Given the description of an element on the screen output the (x, y) to click on. 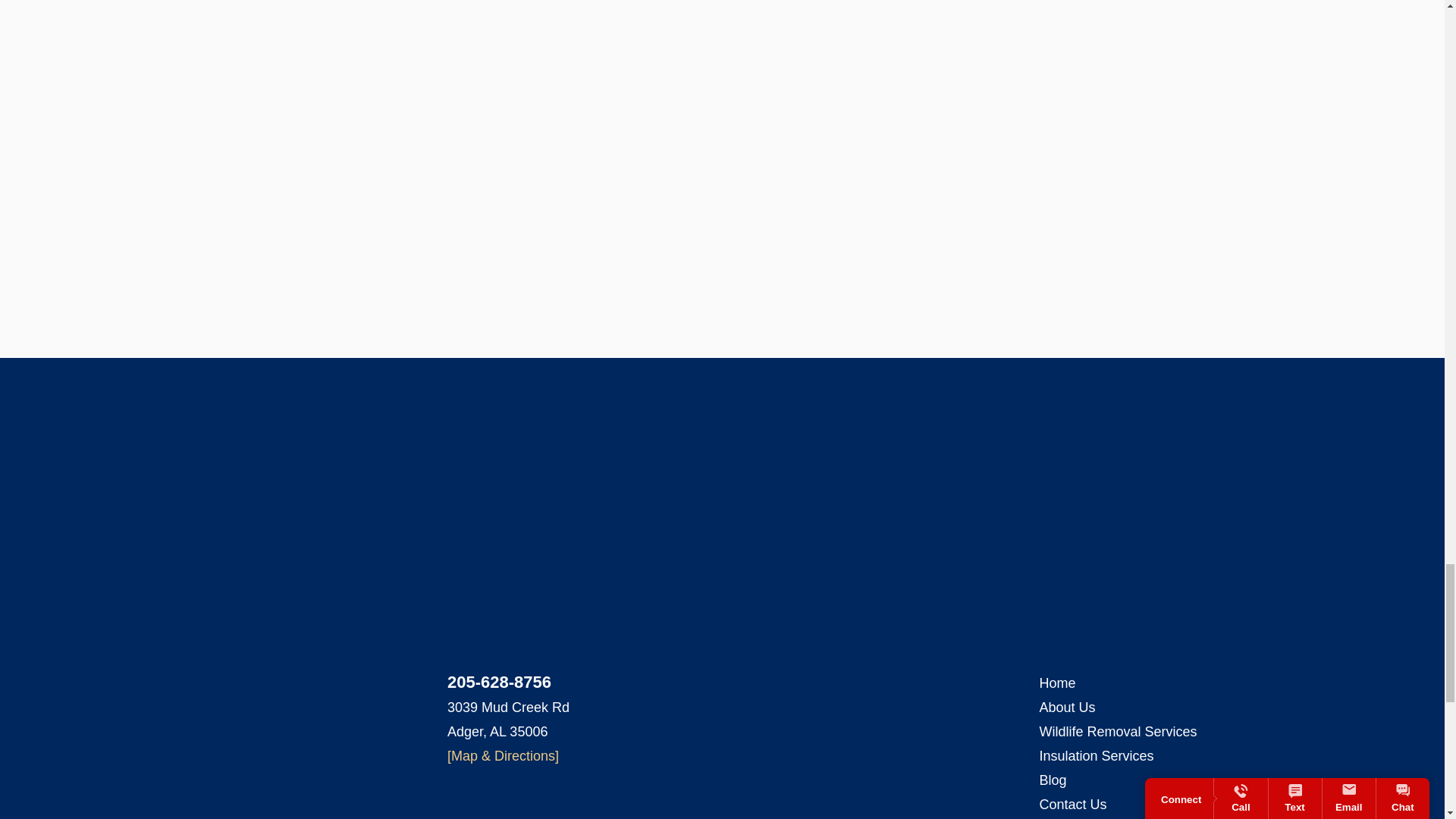
Facebook (213, 722)
Google Business Profile (242, 722)
BBB.org (184, 722)
